Given the description of an element on the screen output the (x, y) to click on. 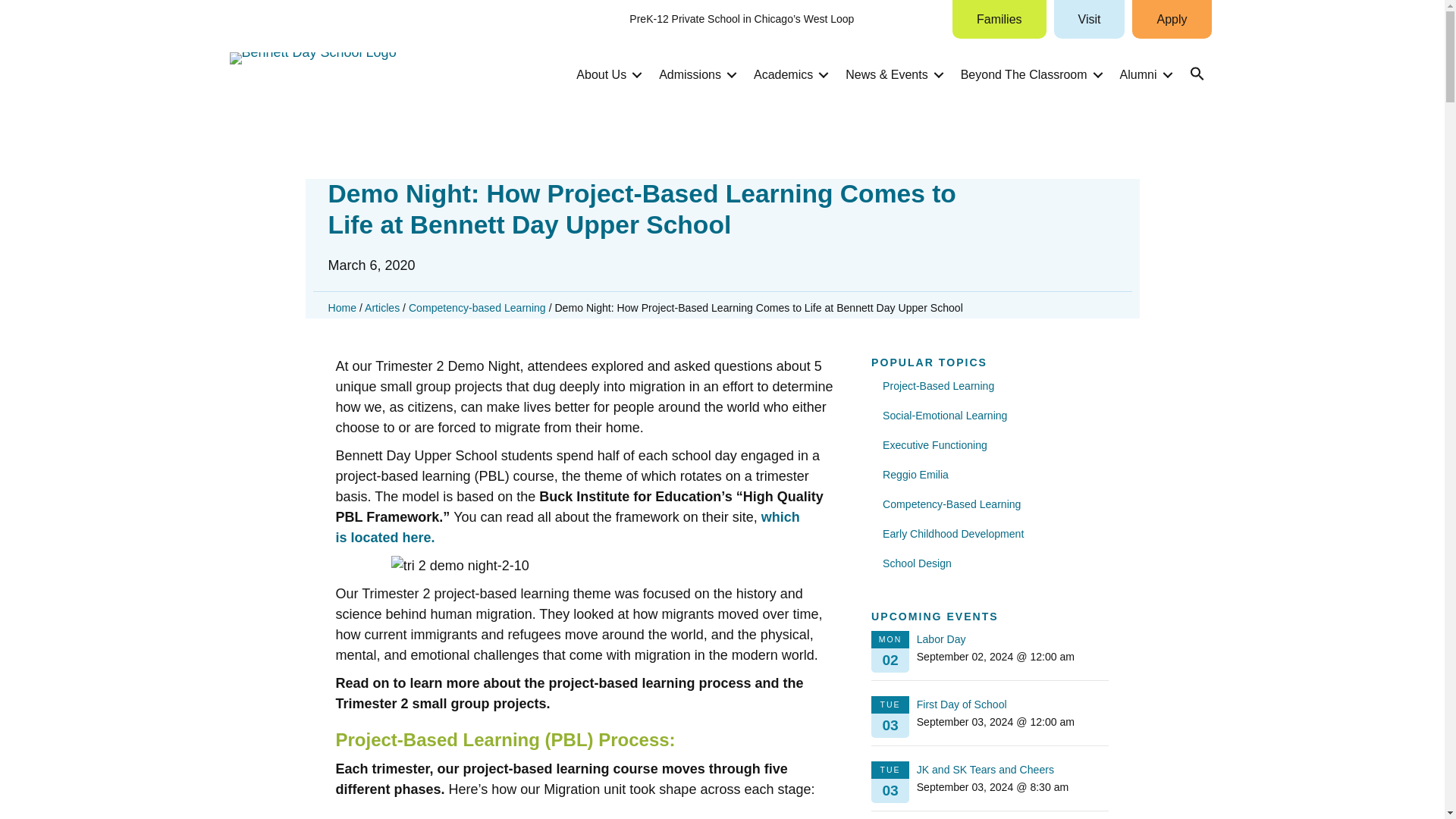
First Day of School (962, 704)
JK and SK Tears and Cheers (985, 769)
Families (999, 19)
Labor Day (941, 639)
Admissions (694, 74)
Visit (1089, 19)
Academics (788, 74)
Apply (1171, 19)
About Us (606, 74)
